Given the description of an element on the screen output the (x, y) to click on. 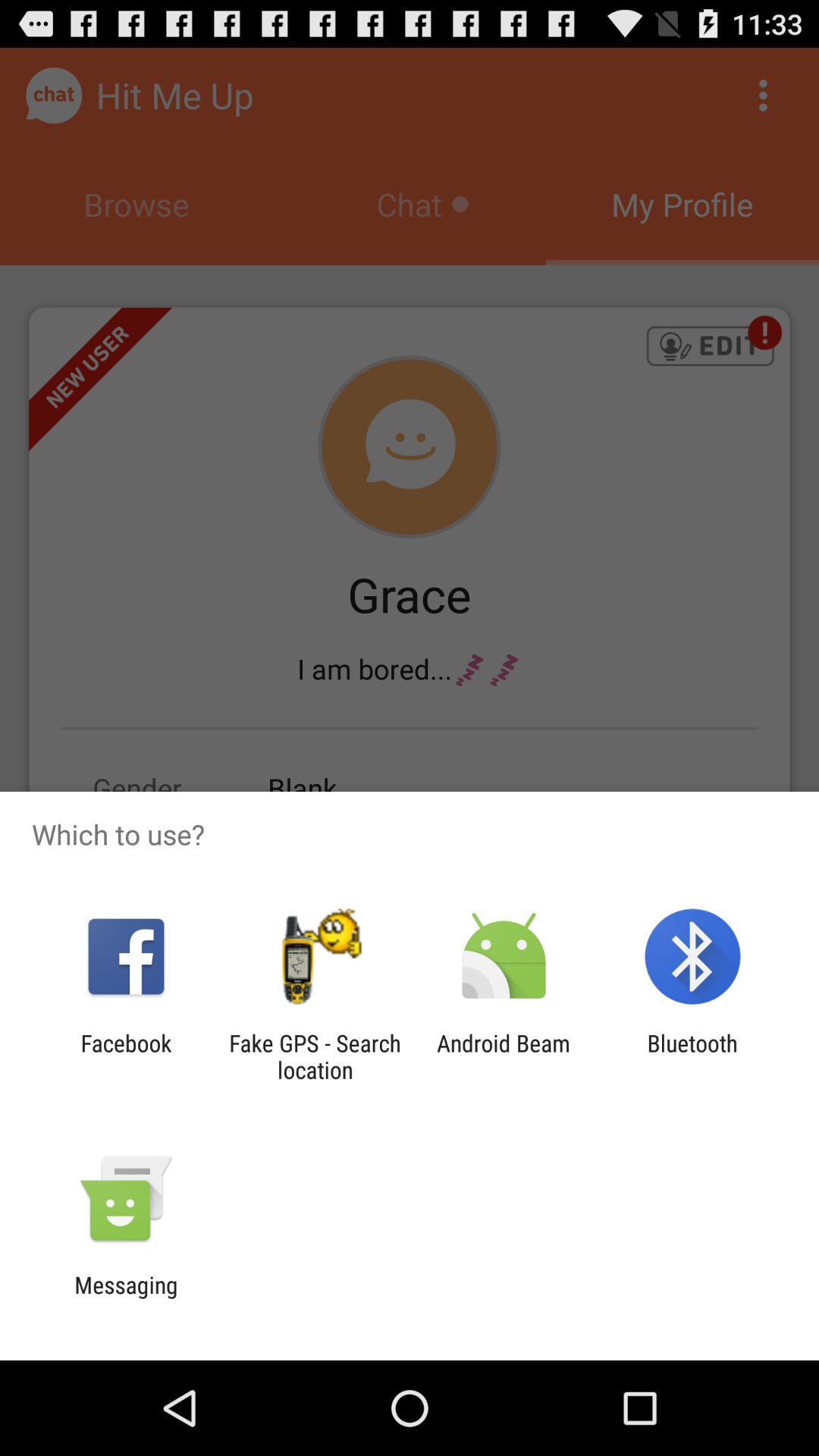
launch the item at the bottom right corner (692, 1056)
